Given the description of an element on the screen output the (x, y) to click on. 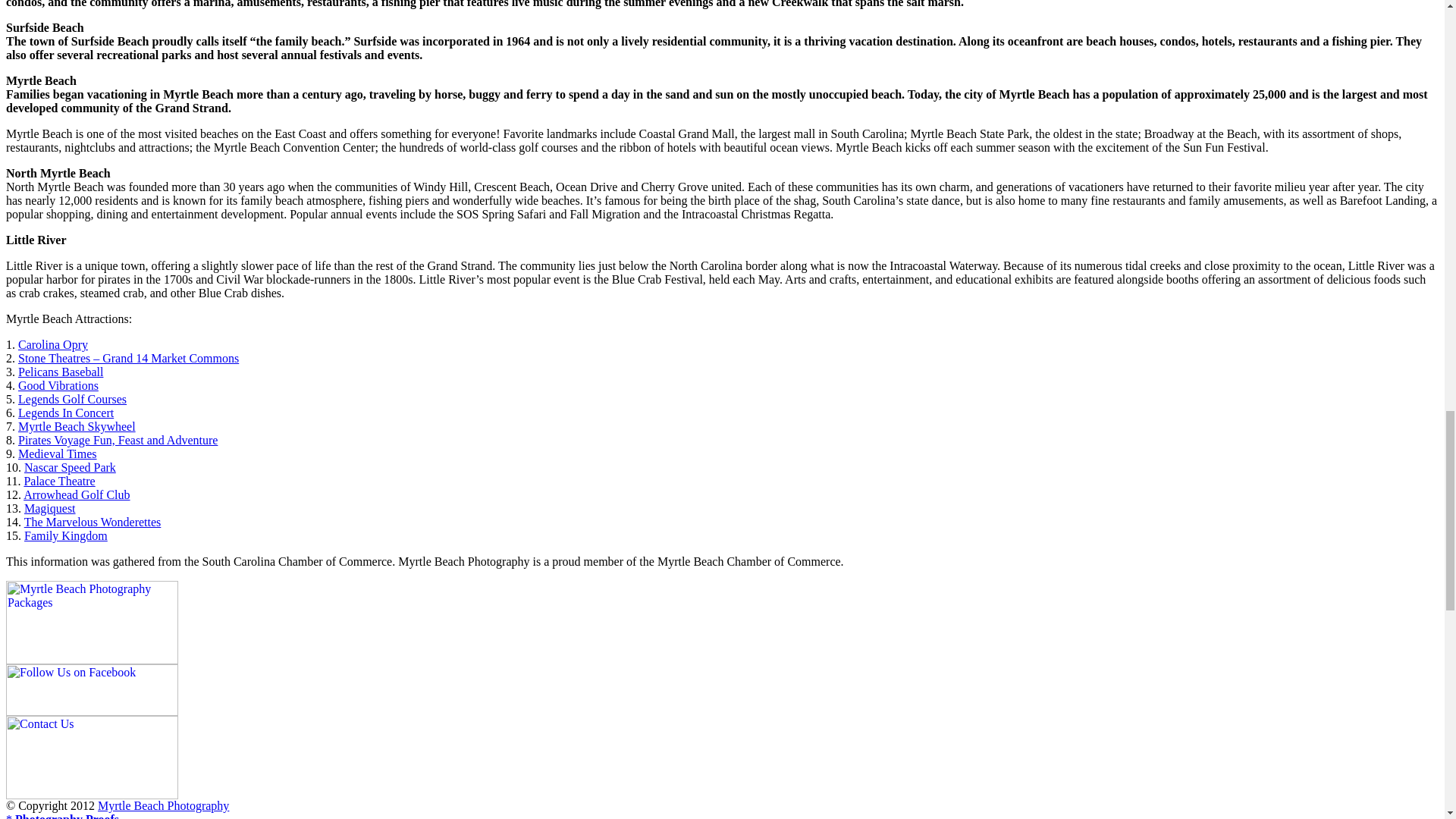
Legends In Concert (65, 412)
Nascar Speed Park (70, 467)
Arrowhead Golf Club (76, 494)
Good Vibrations (58, 385)
Pirates Voyage Fun, Feast and Adventure (116, 440)
Legends Golf Courses (71, 399)
Myrtle Beach Skywheel (76, 426)
Pelicans Baseball (60, 371)
Palace Theatre (58, 481)
Medieval Times (57, 453)
Carolina Opry (52, 344)
